Given the description of an element on the screen output the (x, y) to click on. 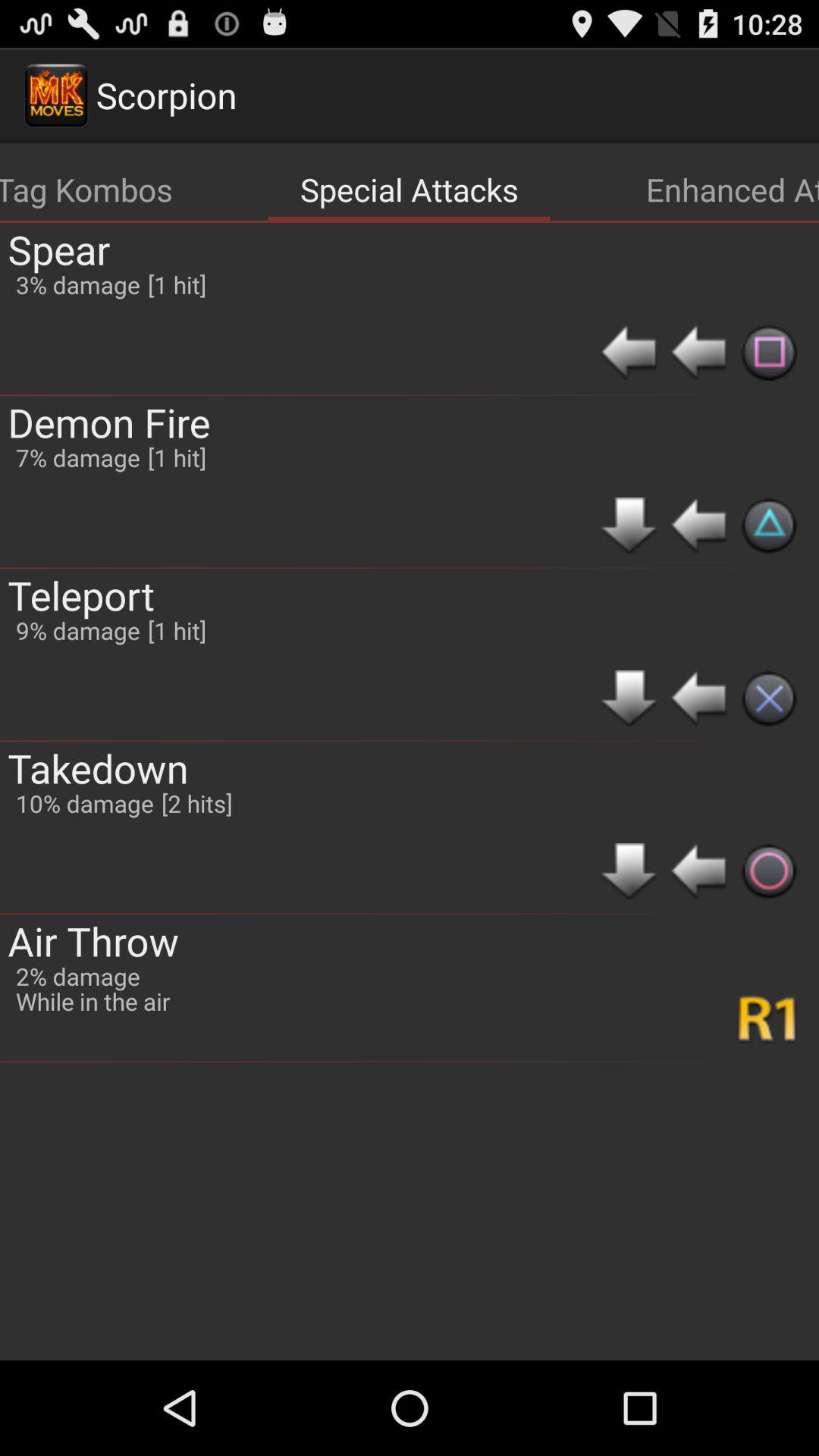
select item below the enhanced attacks icon (698, 352)
